Given the description of an element on the screen output the (x, y) to click on. 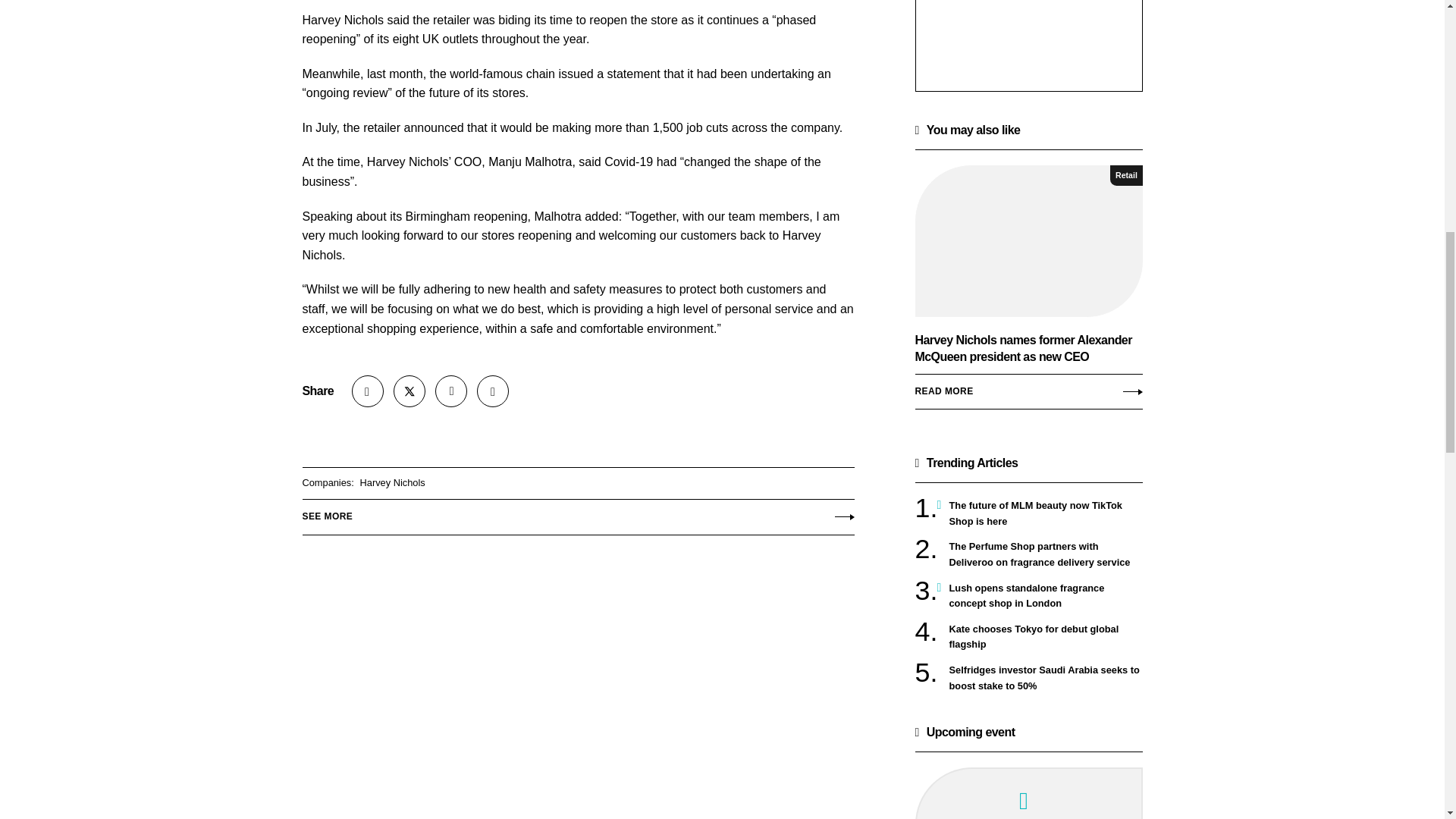
SEE MORE (577, 512)
X (409, 391)
Follow Cosmetics Business on LinkedIn (451, 391)
LinkedIn (451, 391)
Facebook (492, 391)
Share (368, 391)
Follow Cosmetics Business on X (409, 391)
Share this article (368, 391)
